Given the description of an element on the screen output the (x, y) to click on. 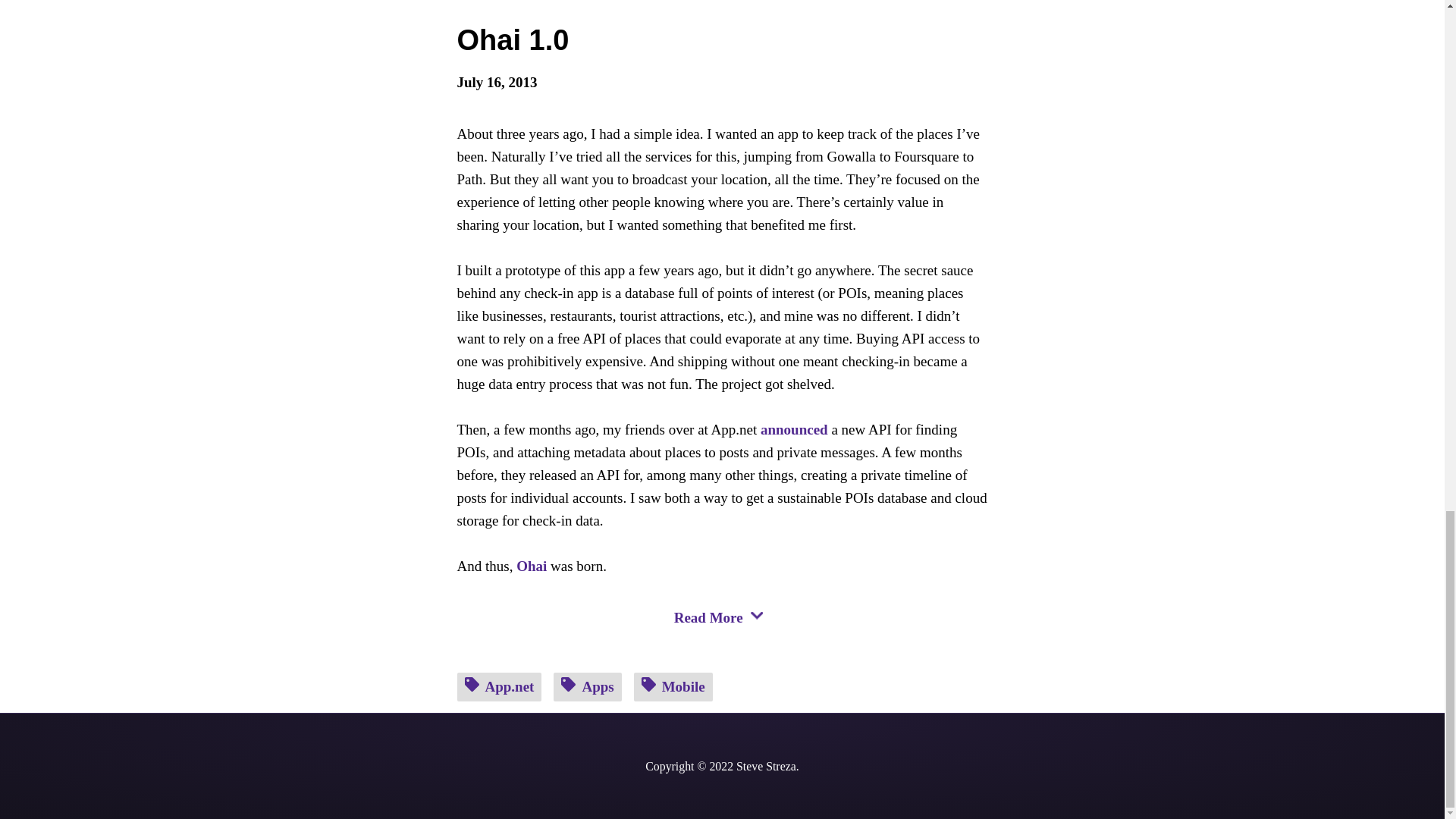
announced (794, 429)
Mobile (673, 686)
Read More (722, 603)
July 16, 2013 (722, 82)
Ohai 1.0 (513, 40)
App.net (499, 686)
Apps (586, 686)
Ohai (531, 565)
